Given the description of an element on the screen output the (x, y) to click on. 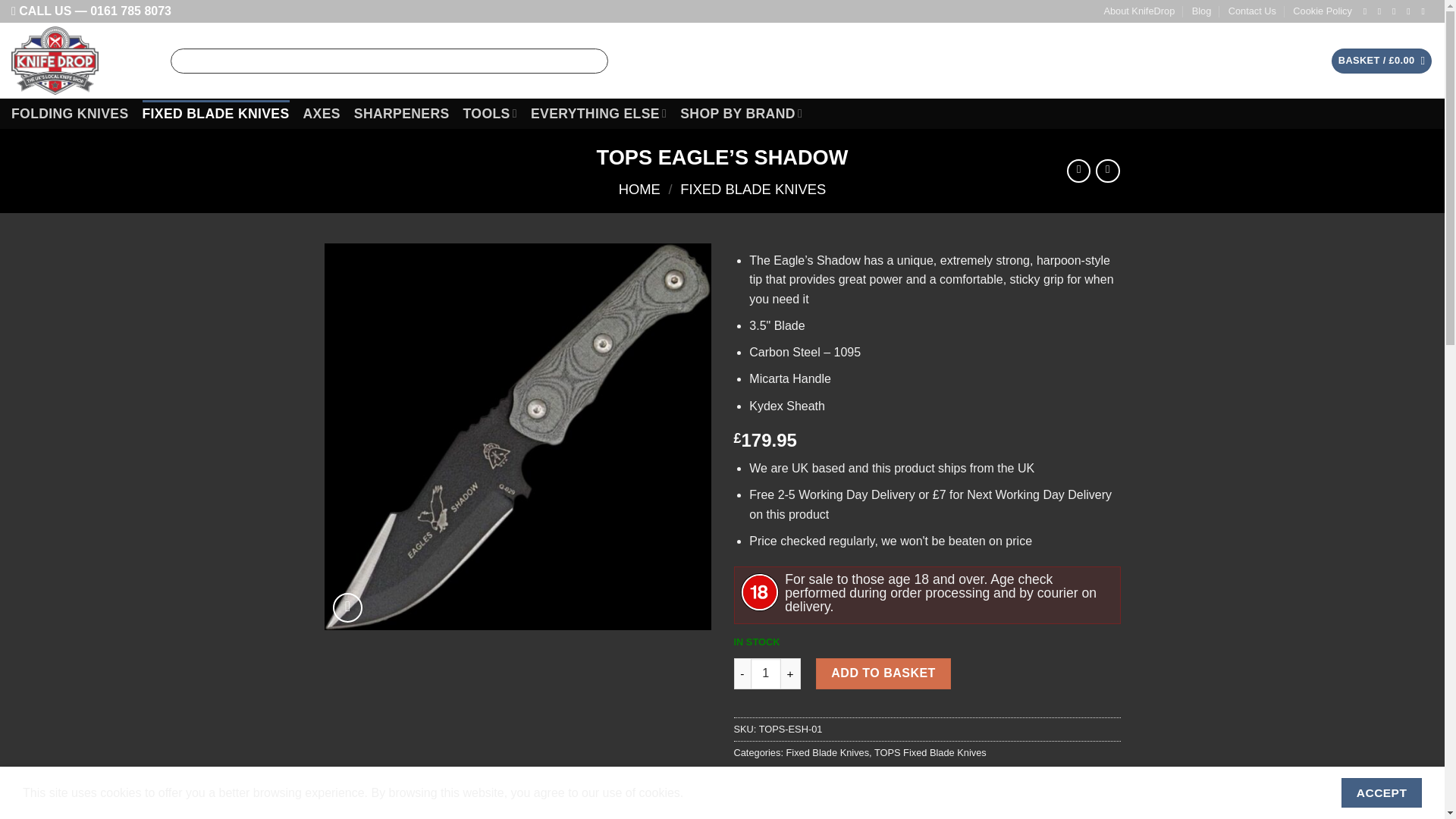
1 (765, 673)
Share on Facebook (747, 786)
Share on Twitter (774, 786)
LOGIN (1287, 60)
Login (1287, 60)
AXES (321, 113)
0161 785 8073 (130, 10)
Email to a Friend (801, 786)
FOLDING KNIVES (69, 113)
Basket (1382, 60)
